Given the description of an element on the screen output the (x, y) to click on. 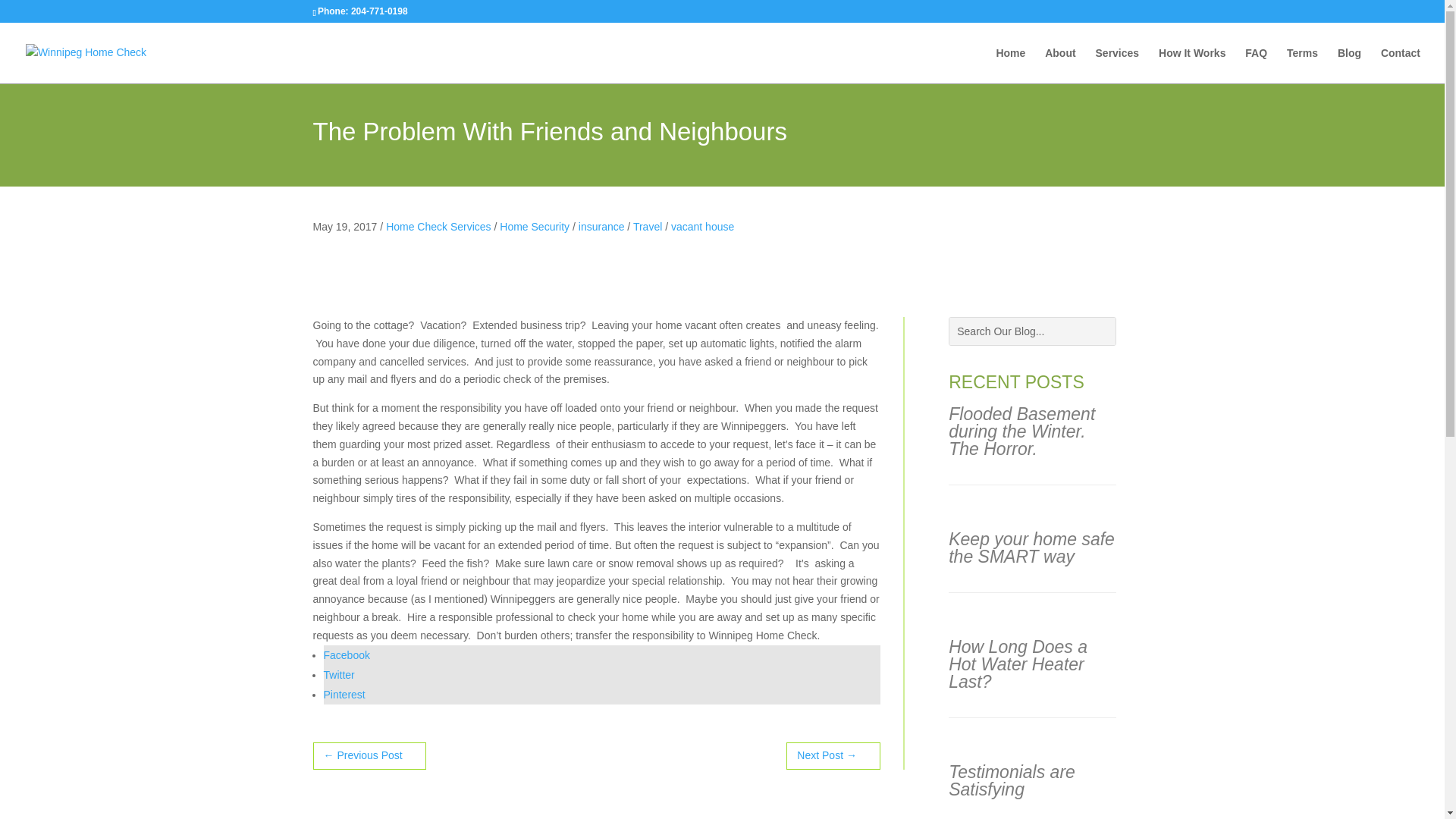
insurance (601, 226)
Contact (1400, 65)
Search (24, 13)
Facebook (601, 654)
vacant house (702, 226)
Services (1118, 65)
Twitter (601, 673)
How Long Does a Hot Water Heater Last? (1018, 664)
Home Check Services (438, 226)
How It Works (1191, 65)
